Given the description of an element on the screen output the (x, y) to click on. 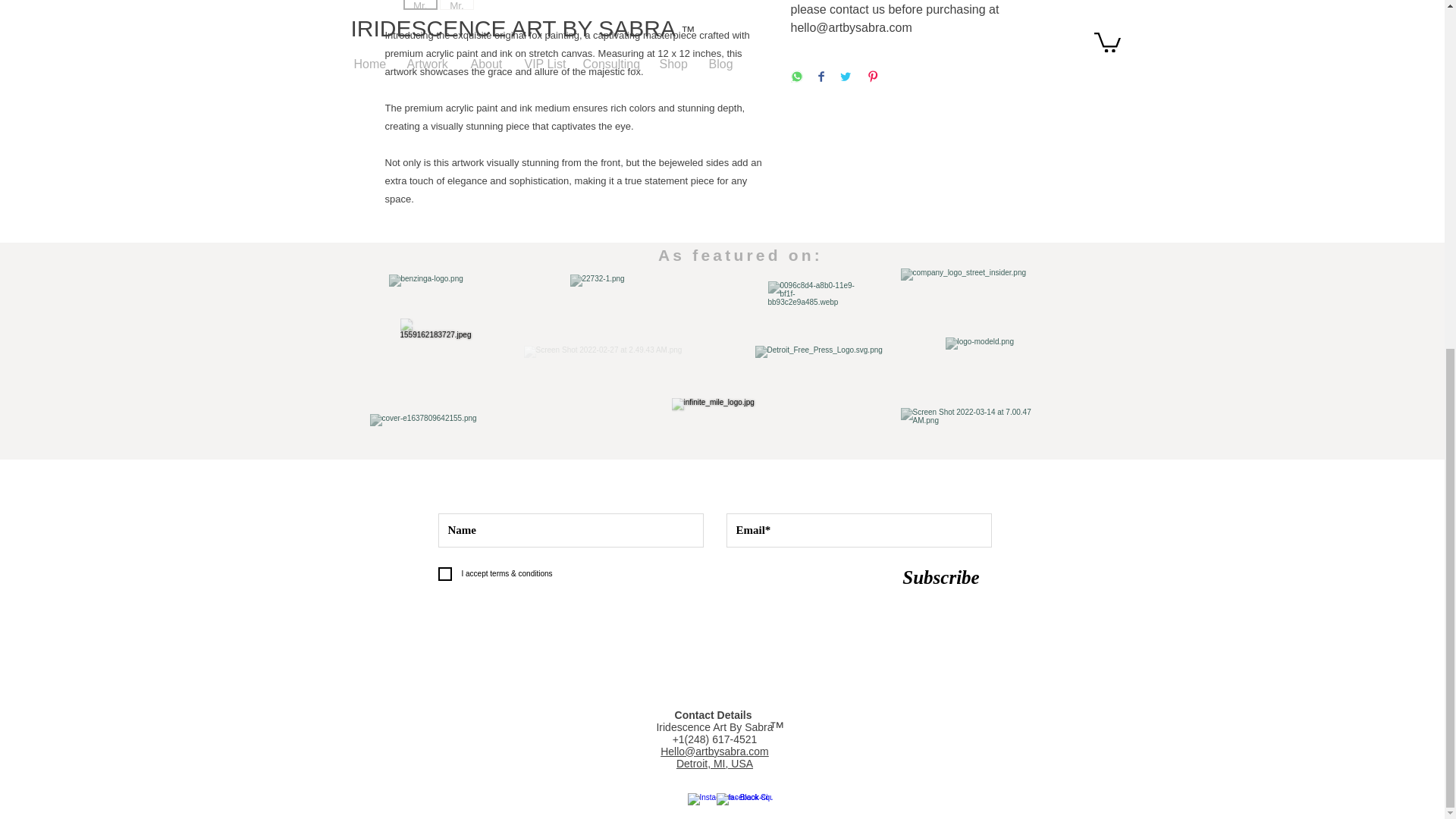
Subscribe (941, 577)
